Given the description of an element on the screen output the (x, y) to click on. 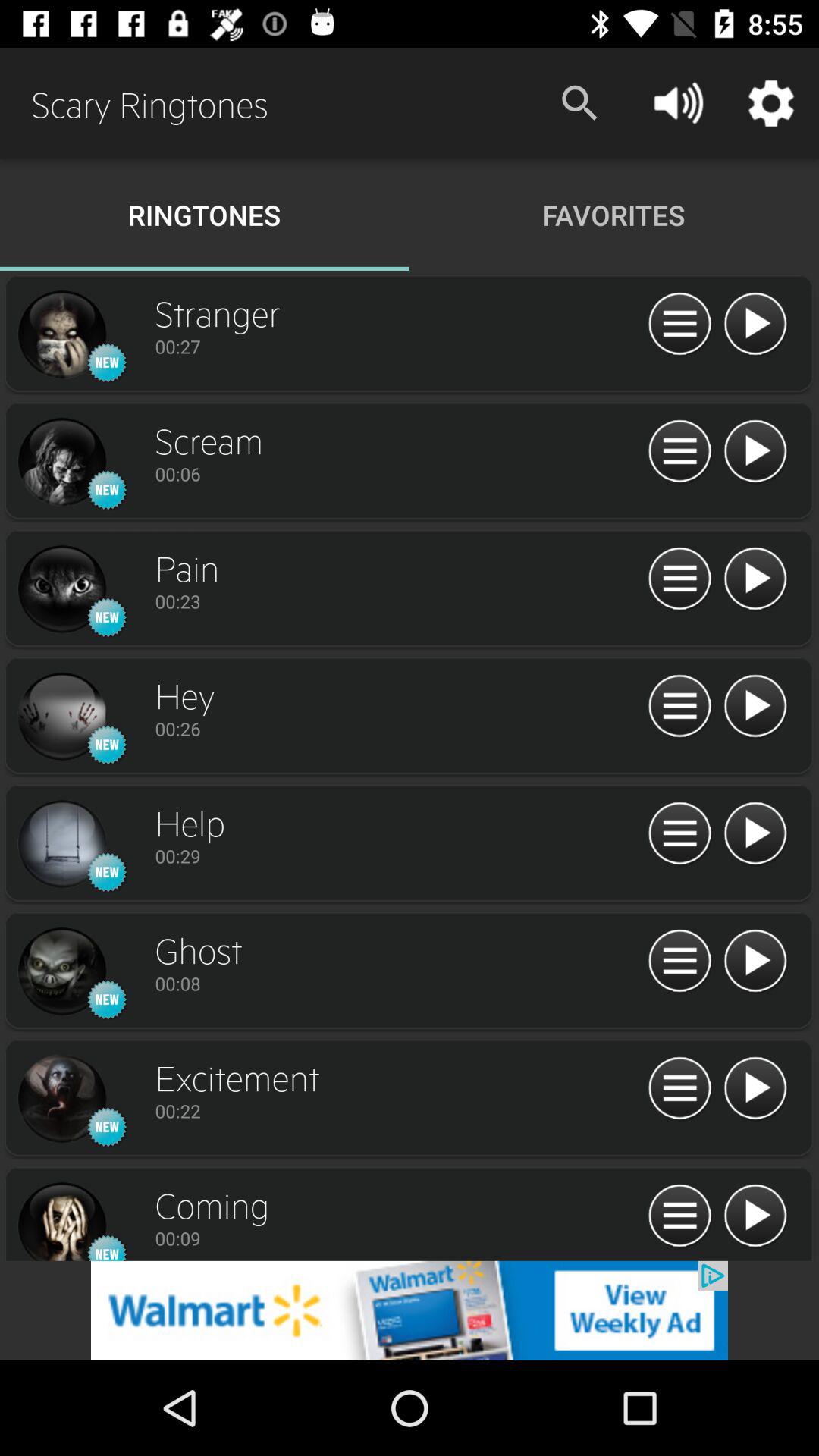
click image (61, 716)
